Given the description of an element on the screen output the (x, y) to click on. 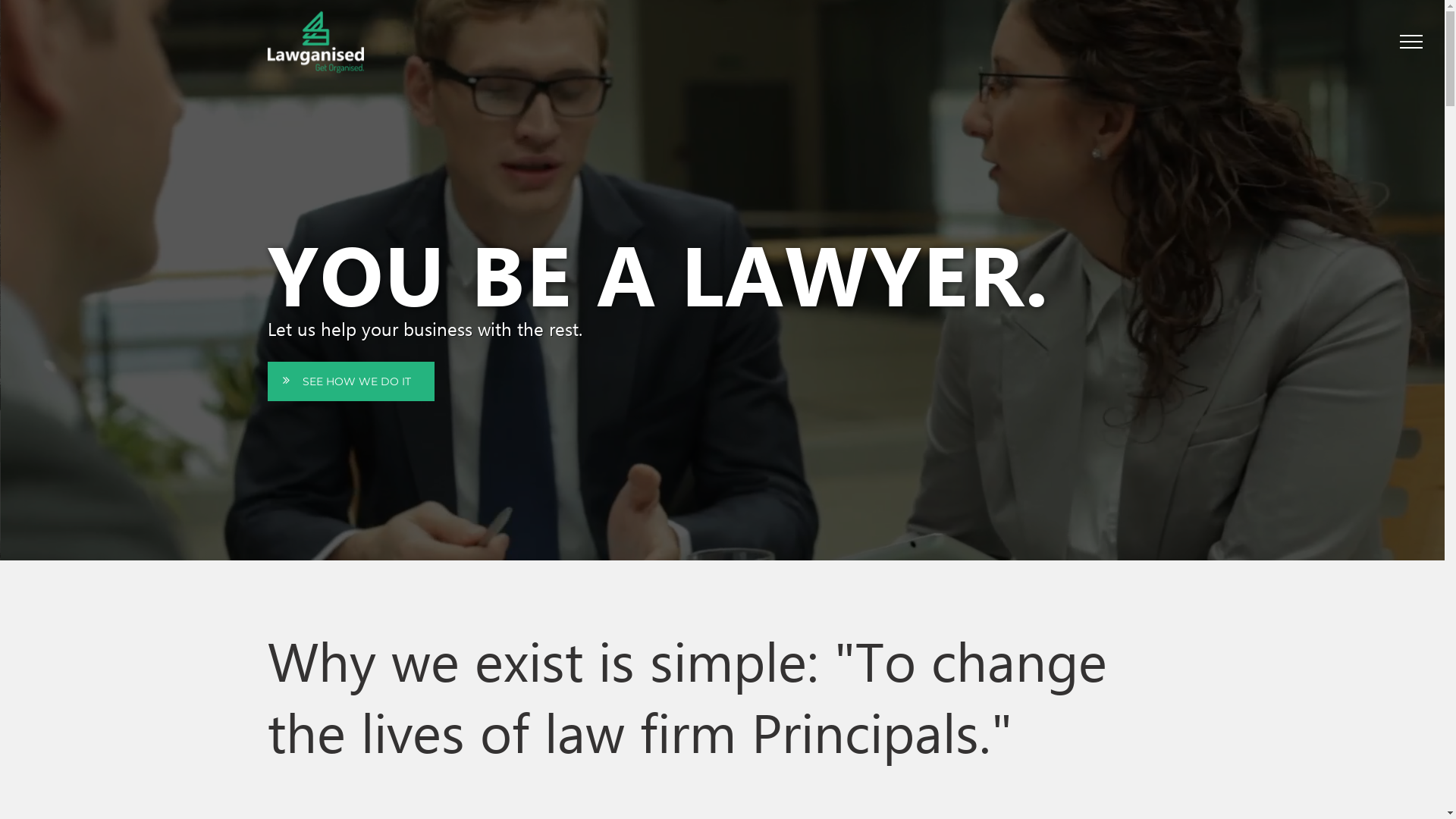
SEE HOW WE DO IT Element type: text (349, 381)
